Given the description of an element on the screen output the (x, y) to click on. 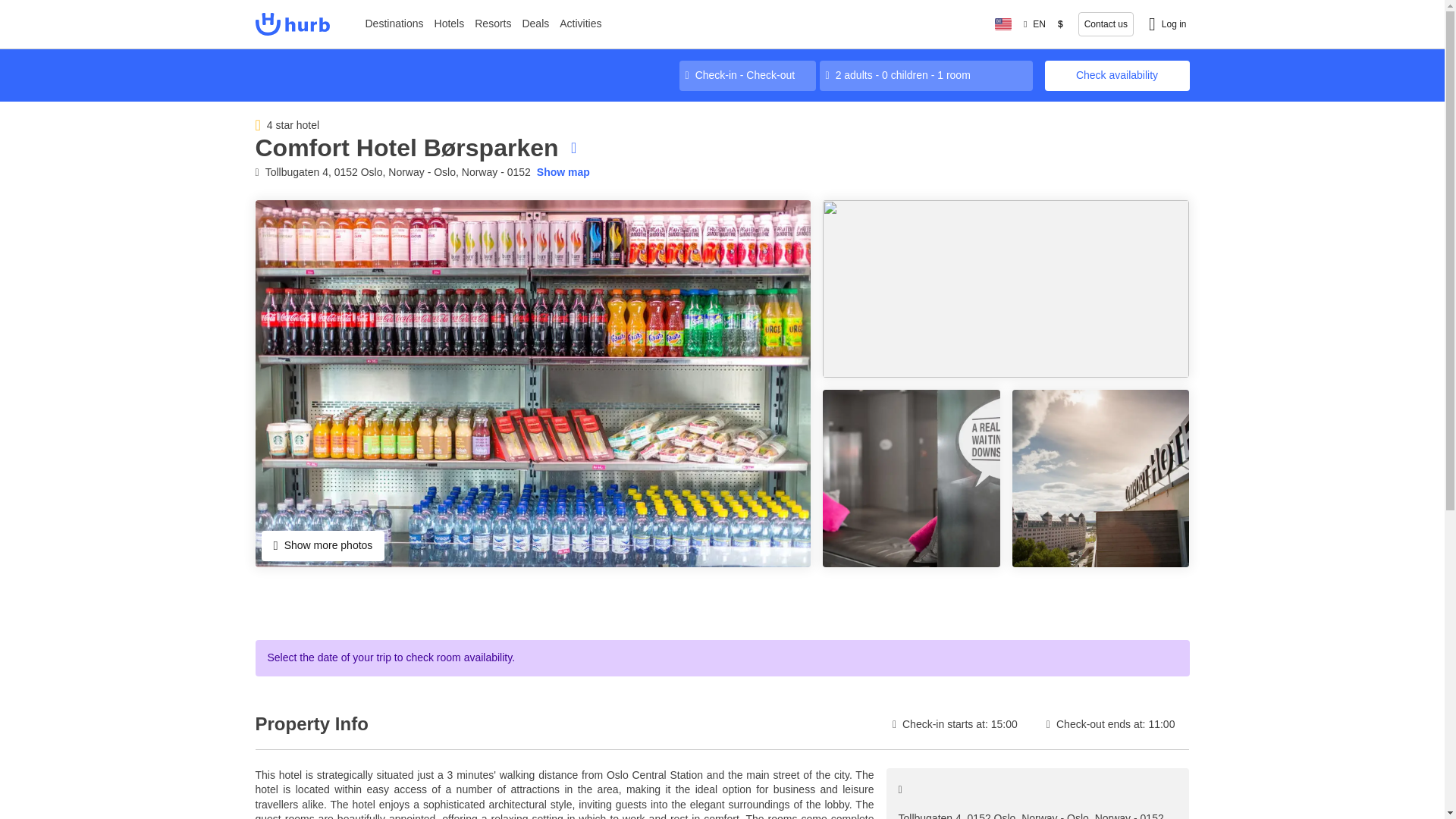
Destinations (393, 23)
Show more photos (322, 545)
Contact us (1106, 24)
Resorts (492, 23)
Resorts (492, 23)
Destinations (393, 23)
Activities (580, 23)
Hurb (291, 24)
EN (1034, 24)
Hotels (449, 23)
